Given the description of an element on the screen output the (x, y) to click on. 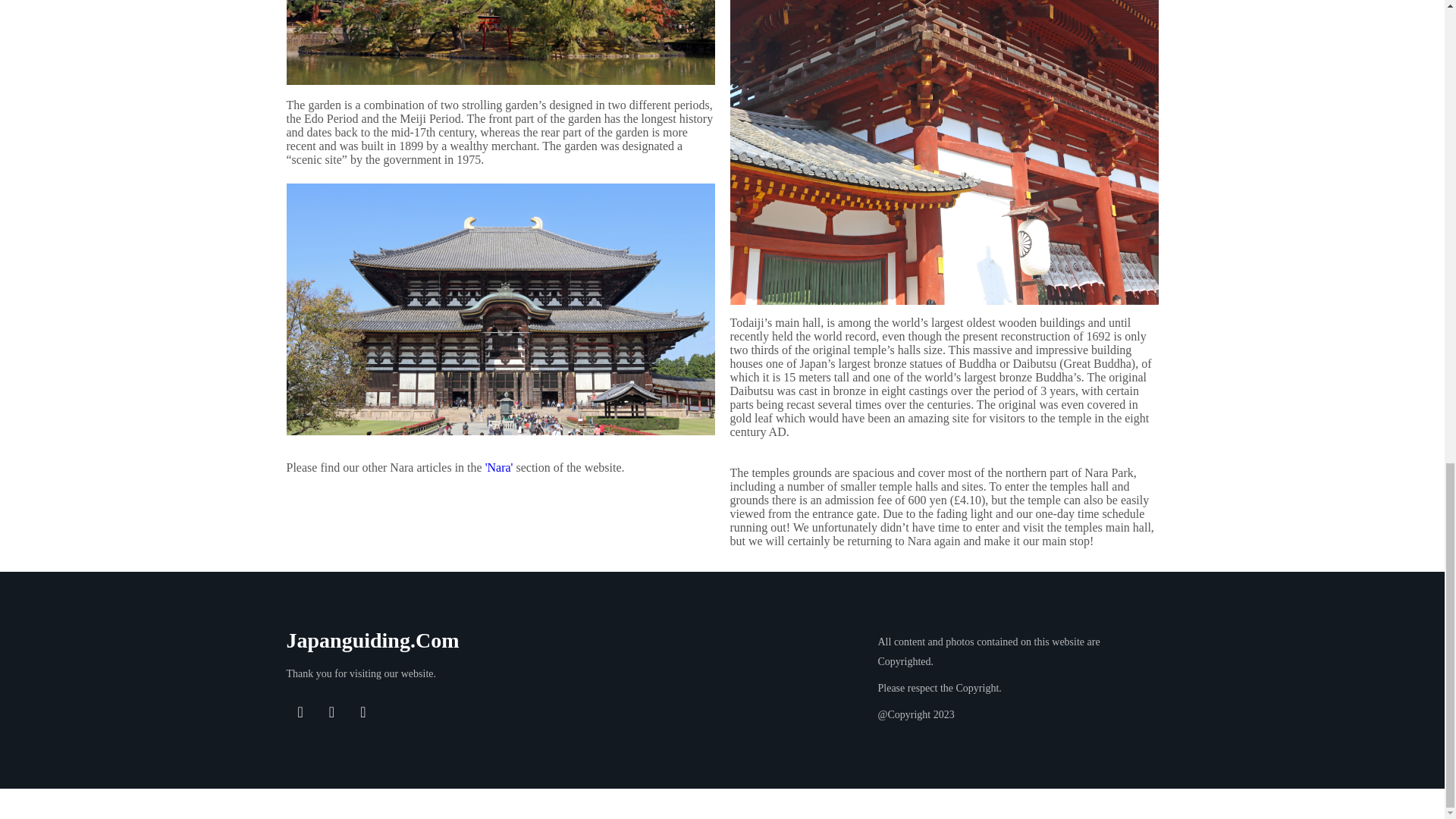
Todai-ji Temple crop (500, 308)
